Given the description of an element on the screen output the (x, y) to click on. 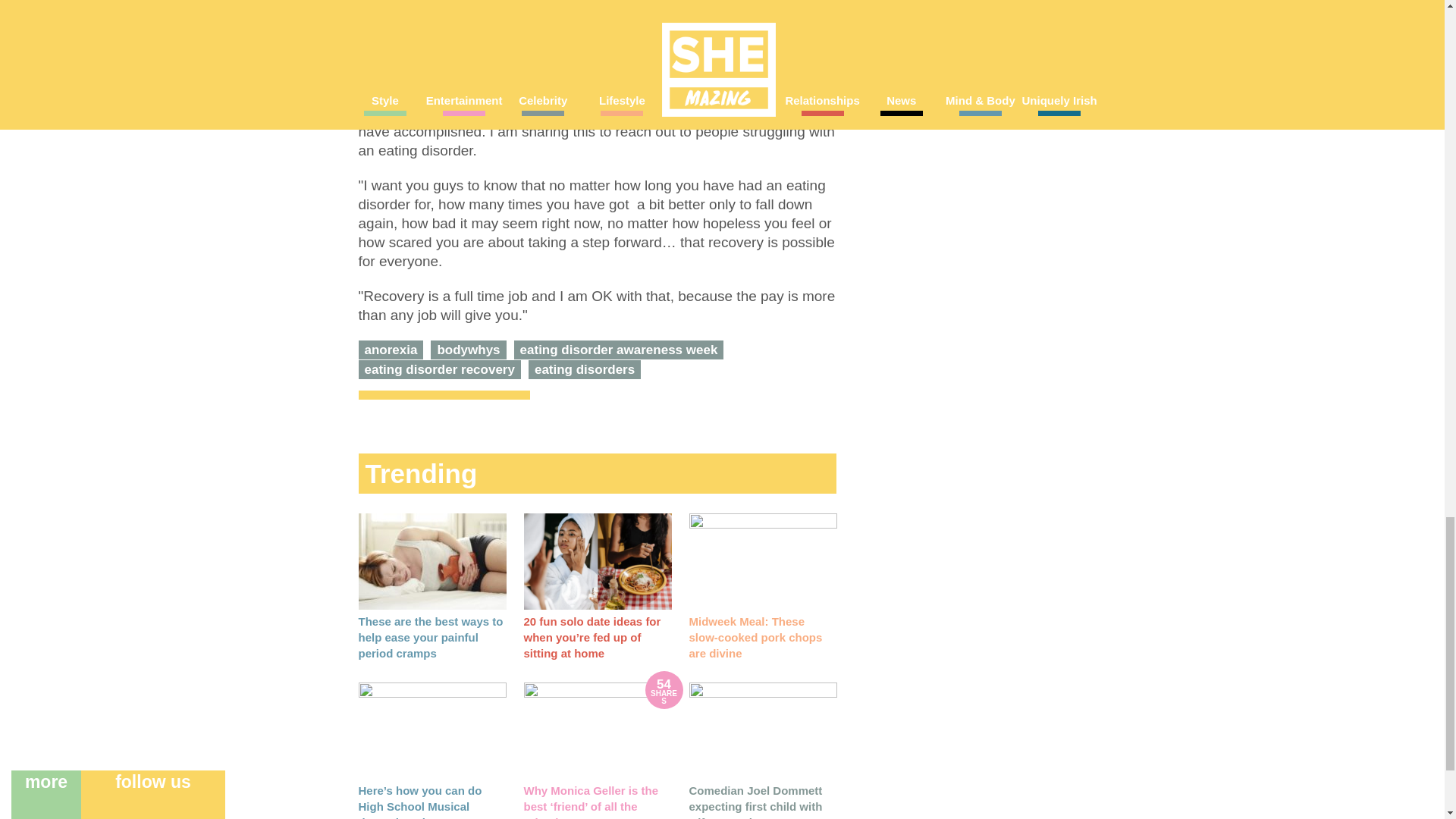
Comedian Joel Dommett expecting first child with wife Hannah (755, 801)
Midweek Meal: These slow-cooked pork chops are divine (755, 636)
Comedian Joel Dommett expecting first child with wife Hannah (761, 730)
Midweek Meal: These slow-cooked pork chops are divine (761, 560)
